Given the description of an element on the screen output the (x, y) to click on. 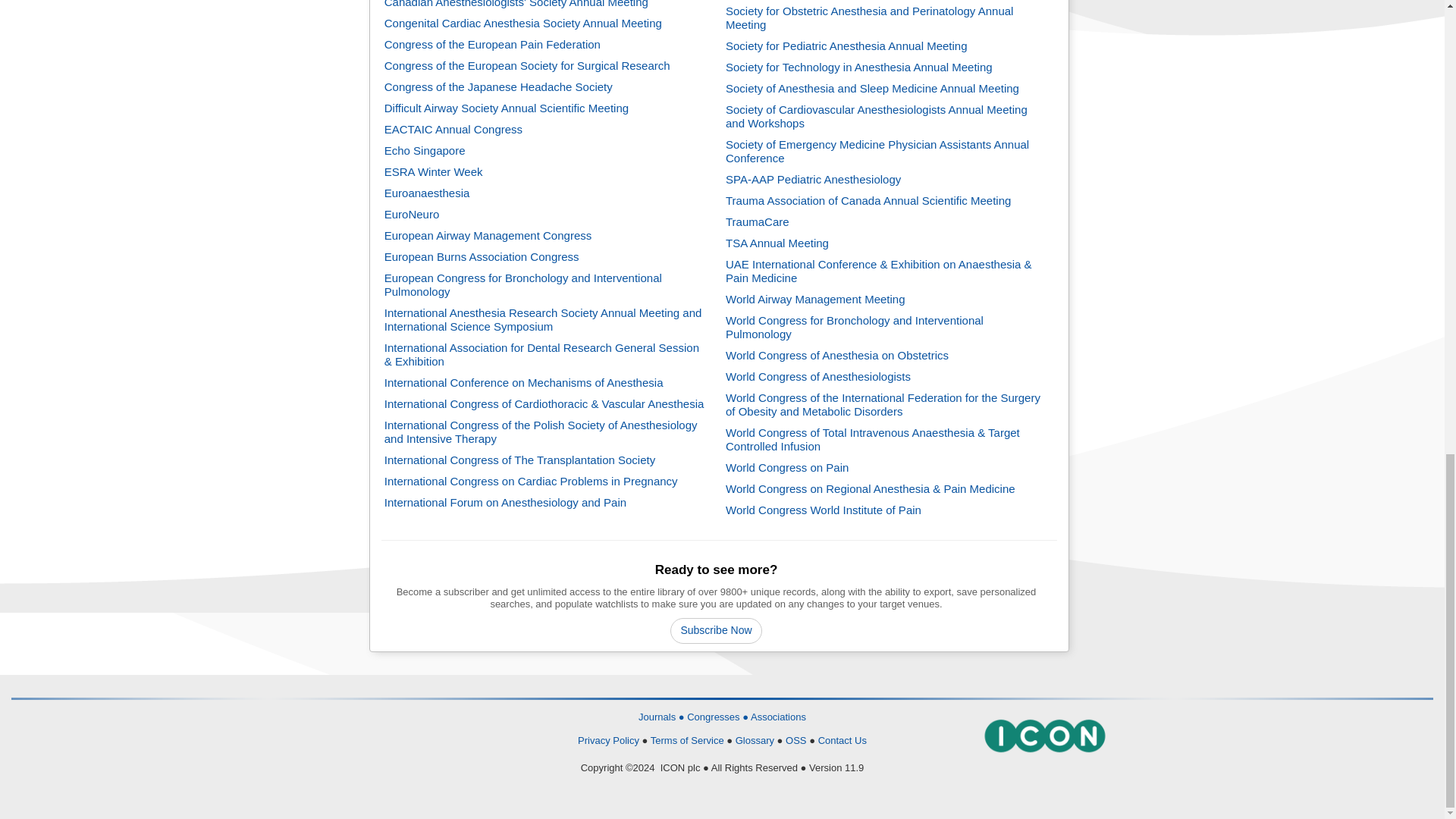
Contact us (842, 740)
ICON (1044, 735)
